Given the description of an element on the screen output the (x, y) to click on. 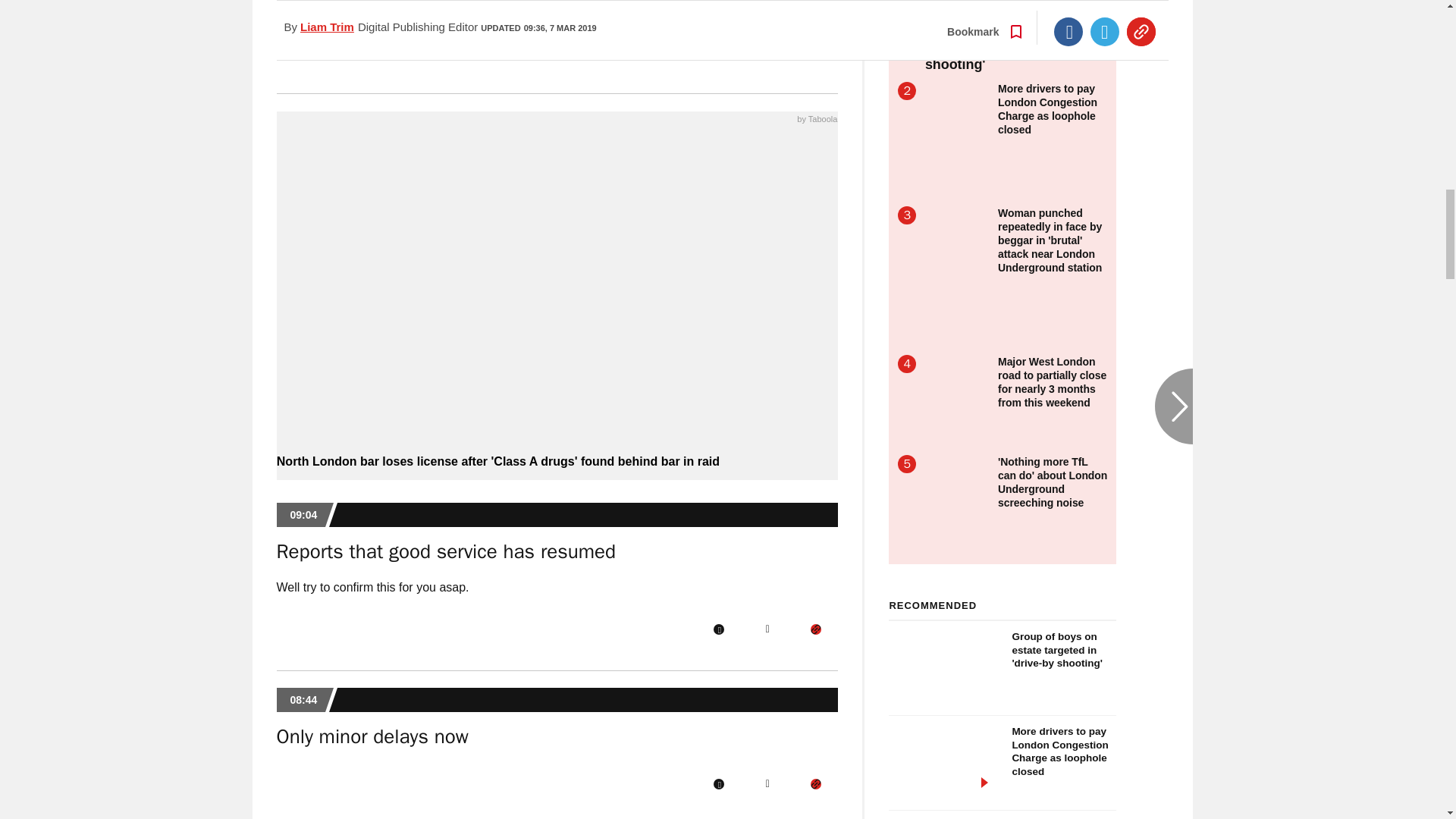
Facebook (718, 51)
Twitter (767, 629)
Facebook (718, 629)
Twitter (767, 51)
